Given the description of an element on the screen output the (x, y) to click on. 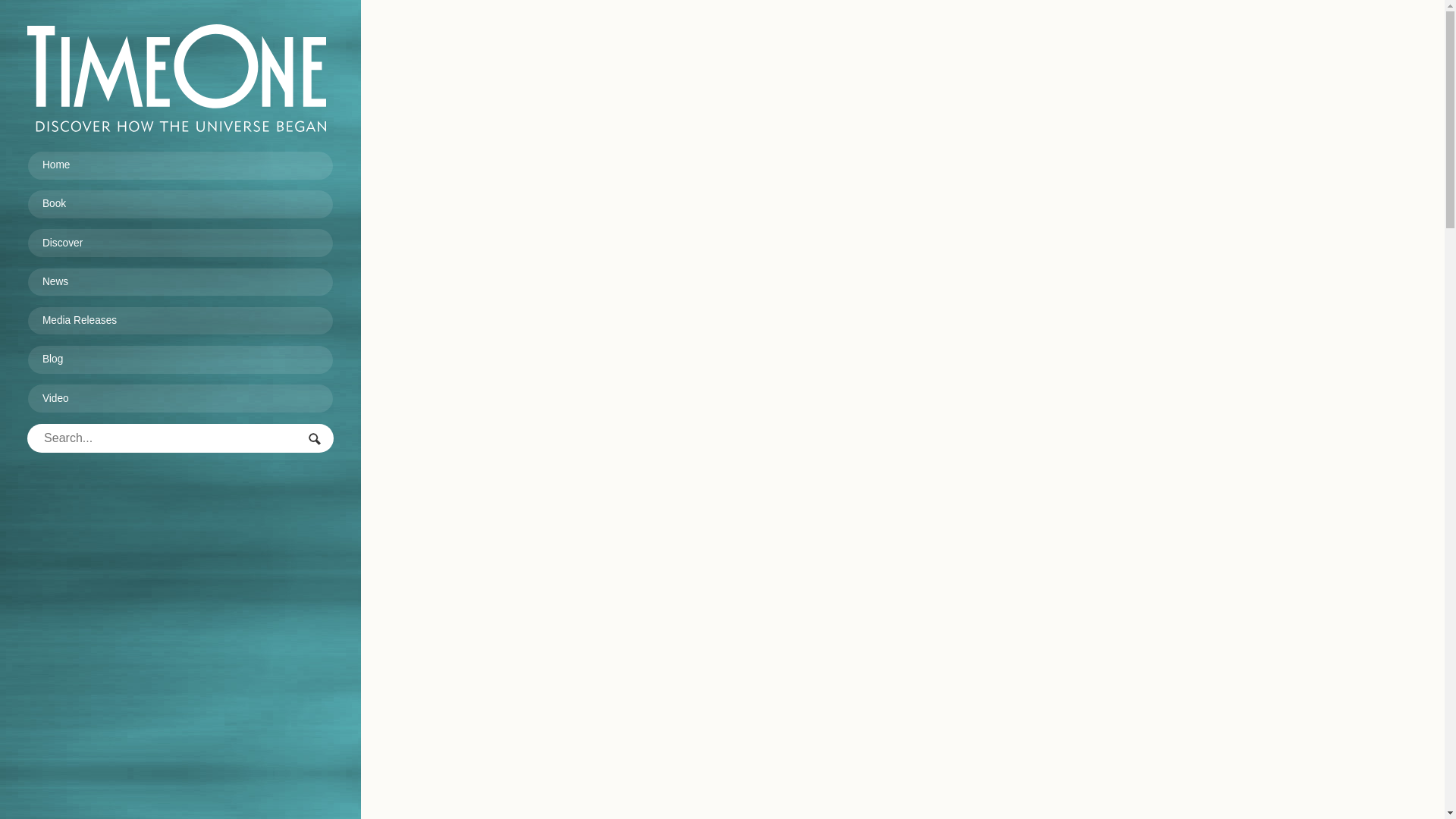
Book (180, 204)
Home (180, 165)
Media Releases (180, 321)
Search (315, 440)
Video (180, 398)
Blog (180, 359)
Discover (180, 243)
News (180, 282)
Search (315, 440)
The Origin of The Universe (176, 77)
